Given the description of an element on the screen output the (x, y) to click on. 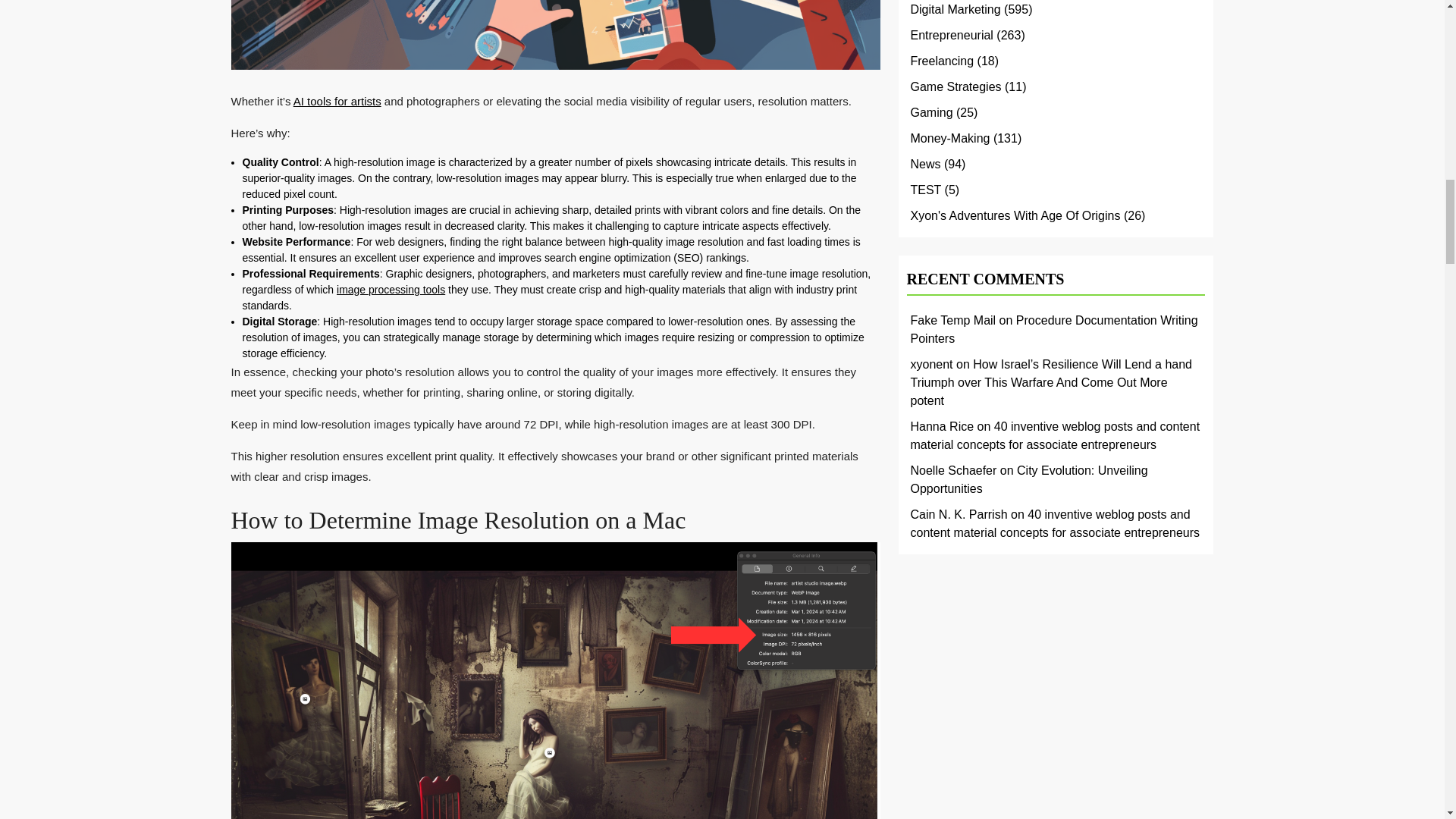
image processing tools (390, 289)
AI tools for artists (337, 101)
